Given the description of an element on the screen output the (x, y) to click on. 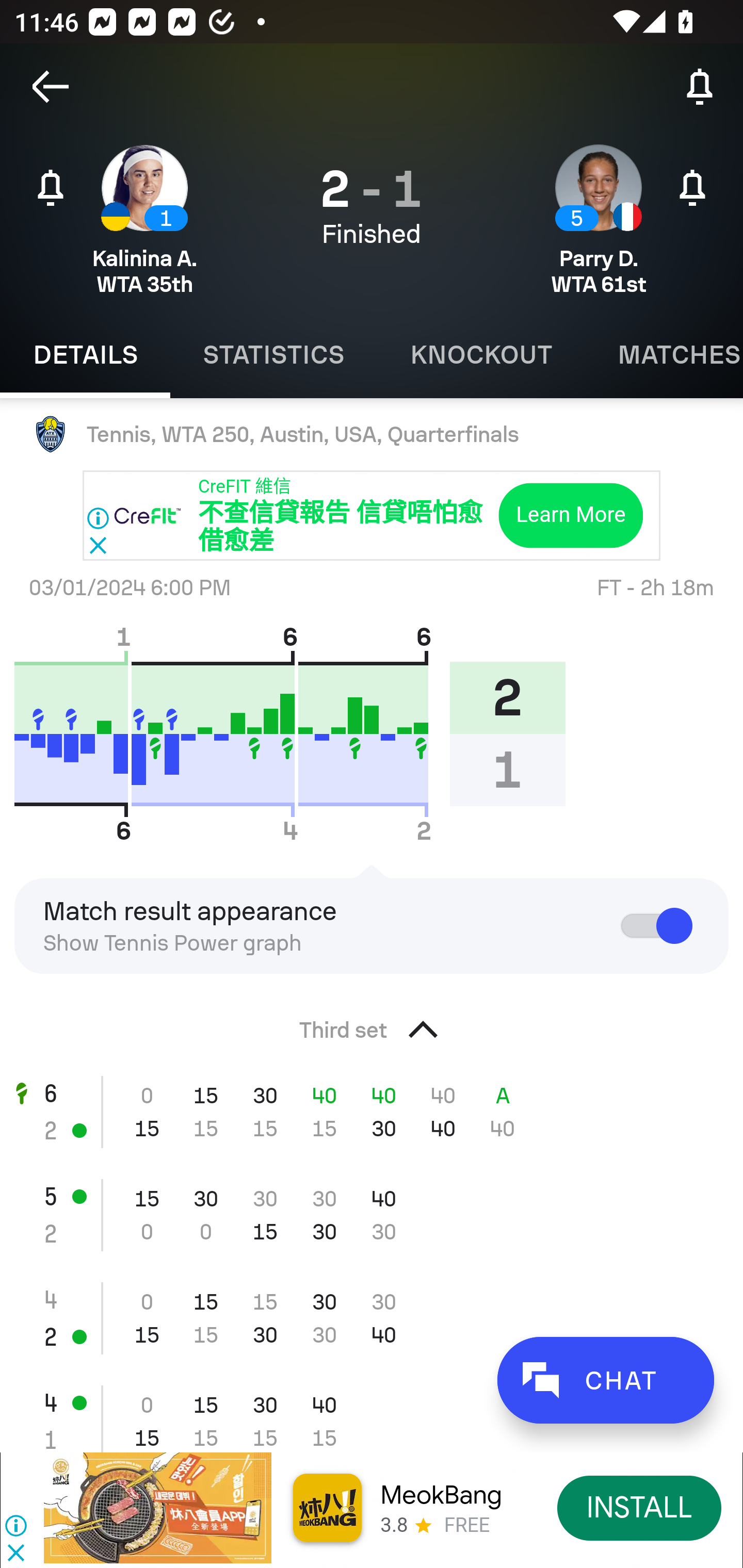
Navigate up (50, 86)
Statistics STATISTICS (273, 355)
Knockout KNOCKOUT (480, 355)
Matches MATCHES (663, 355)
Tennis, WTA 250, Austin, USA, Quarterfinals (371, 434)
1 6 6 4 6 2 2 1 (297, 733)
Third set (371, 1023)
6 0 15 30 40 40 40 A 2 15 15 15 15 30 40 40 (371, 1111)
5 15 30 30 30 40 2 0 0 15 30 30 (371, 1214)
4 0 15 15 30 30 2 15 15 30 30 40 (371, 1318)
CHAT (605, 1380)
4 0 15 30 40 1 15 15 15 15 (371, 1410)
INSTALL (639, 1507)
MeokBang (440, 1494)
